Given the description of an element on the screen output the (x, y) to click on. 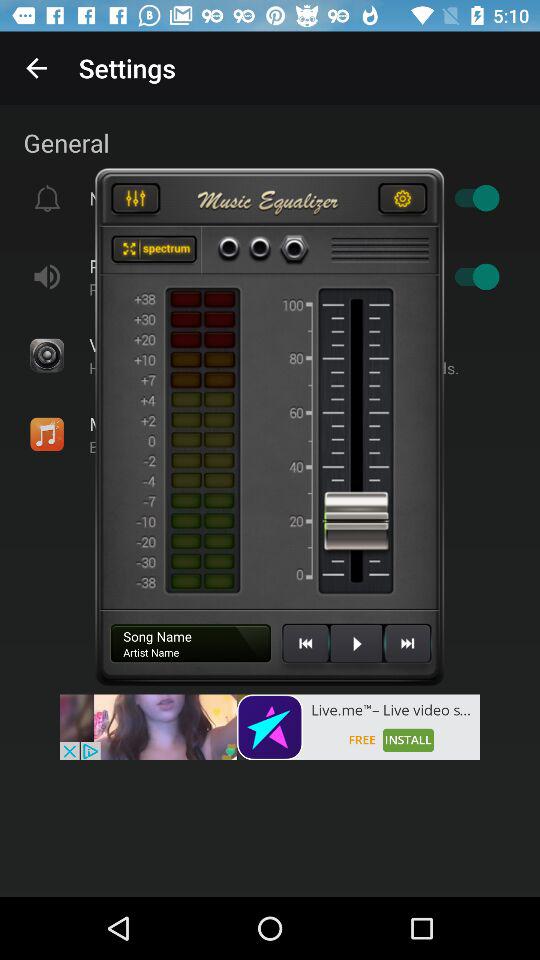
advertisement (270, 727)
